Given the description of an element on the screen output the (x, y) to click on. 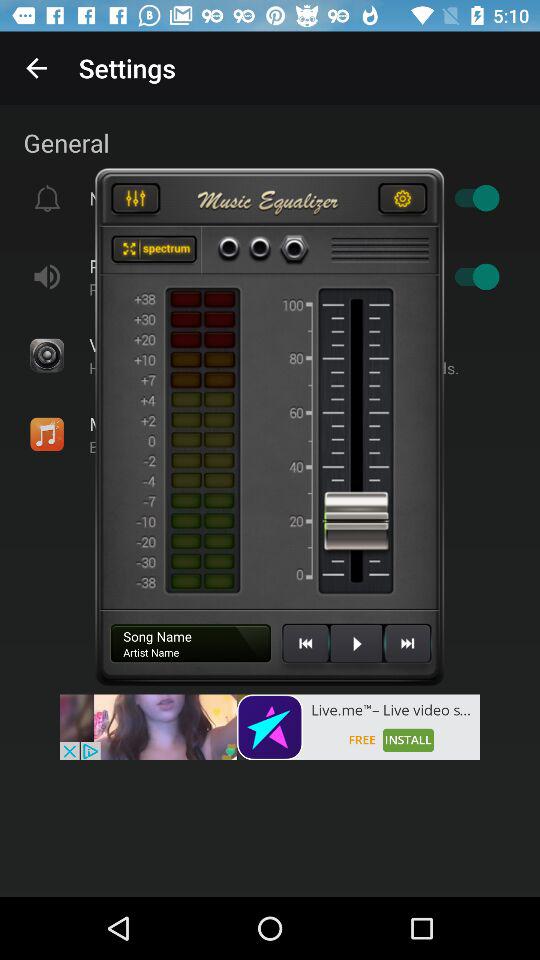
advertisement (270, 727)
